Given the description of an element on the screen output the (x, y) to click on. 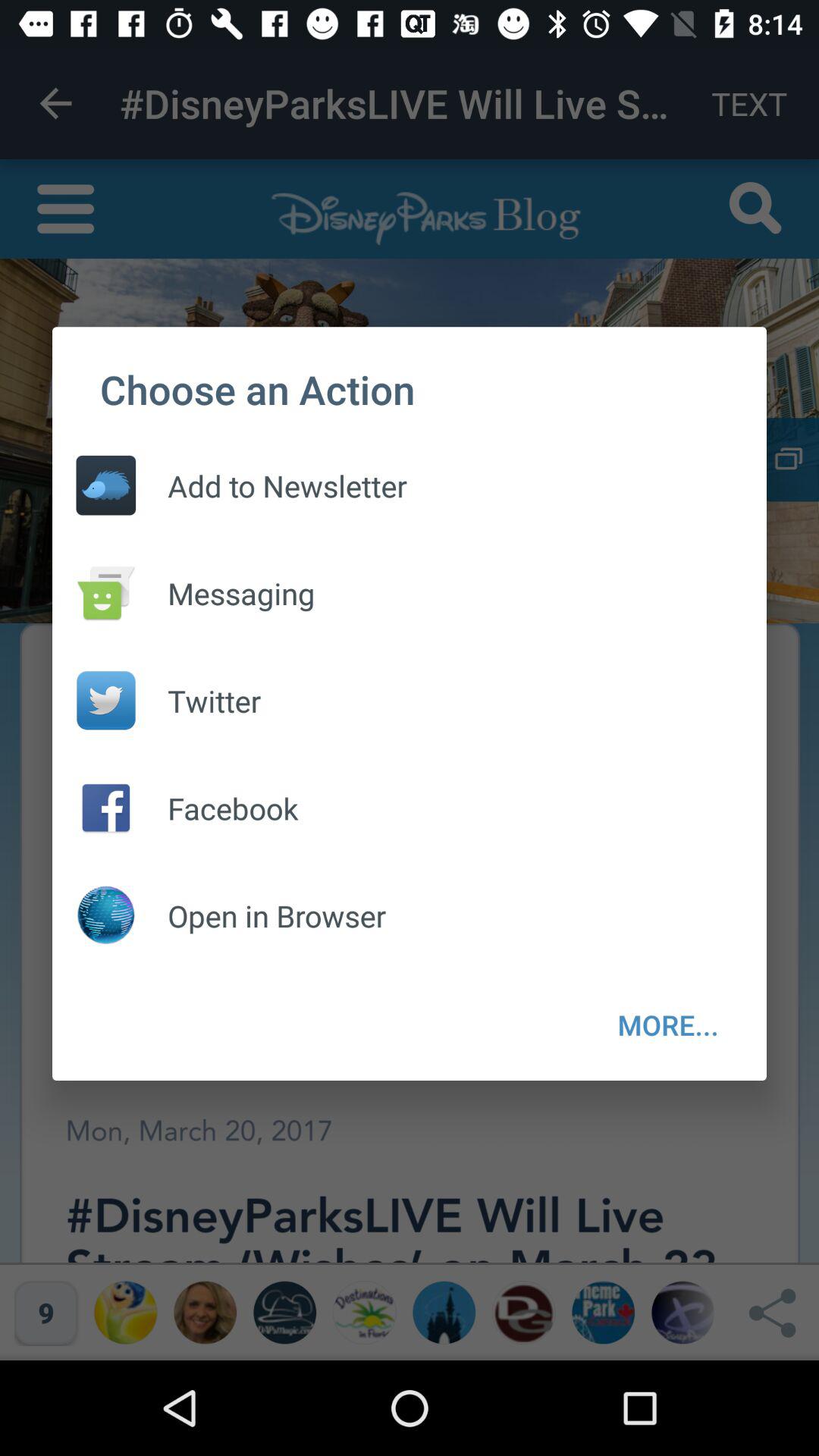
scroll to the twitter (198, 700)
